Given the description of an element on the screen output the (x, y) to click on. 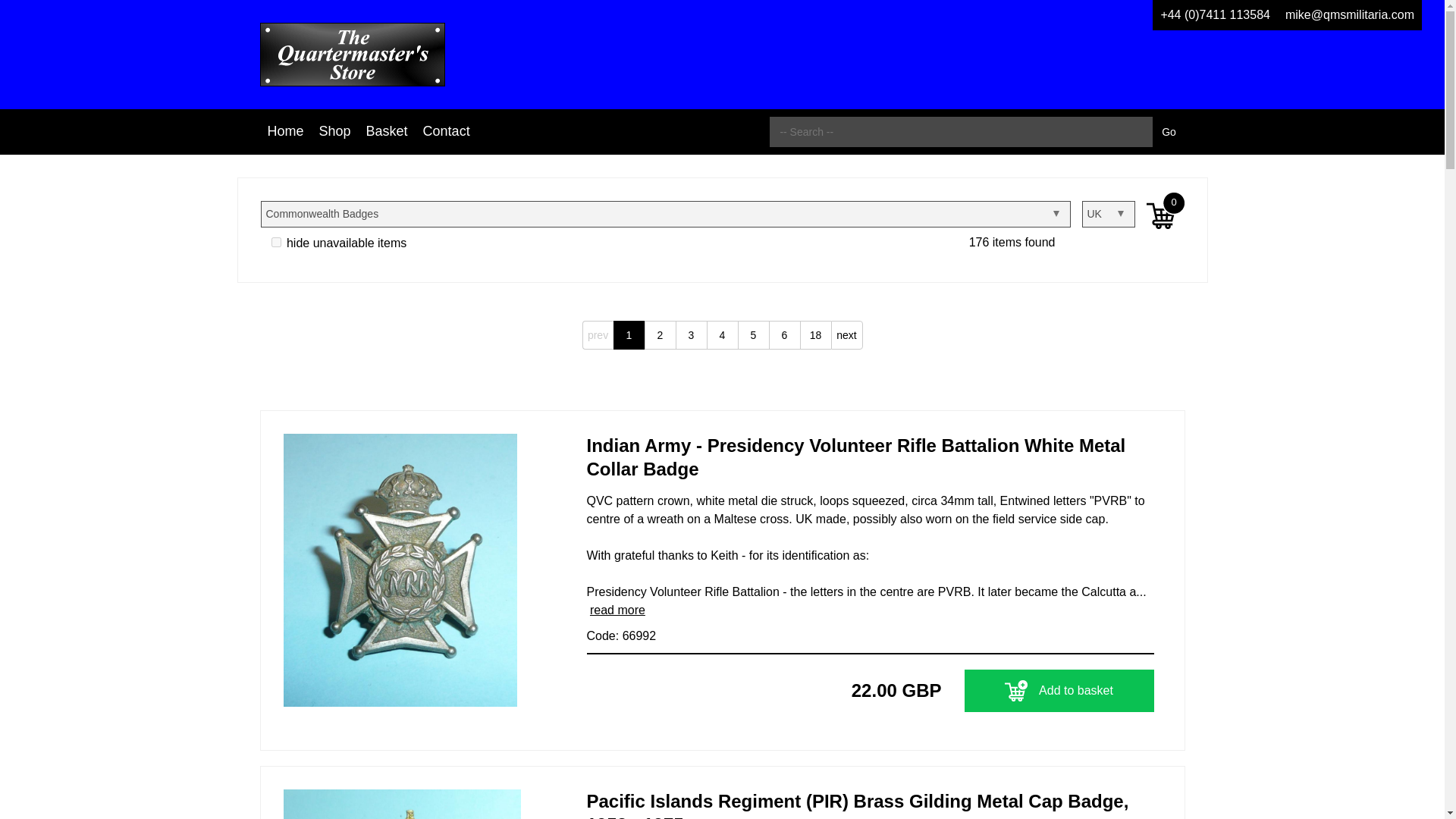
Shop (334, 131)
Logo (351, 54)
next (847, 335)
add to basket (1015, 690)
4 (722, 335)
2 (660, 335)
Add to basket (1058, 690)
Home (285, 131)
6 (783, 335)
